Given the description of an element on the screen output the (x, y) to click on. 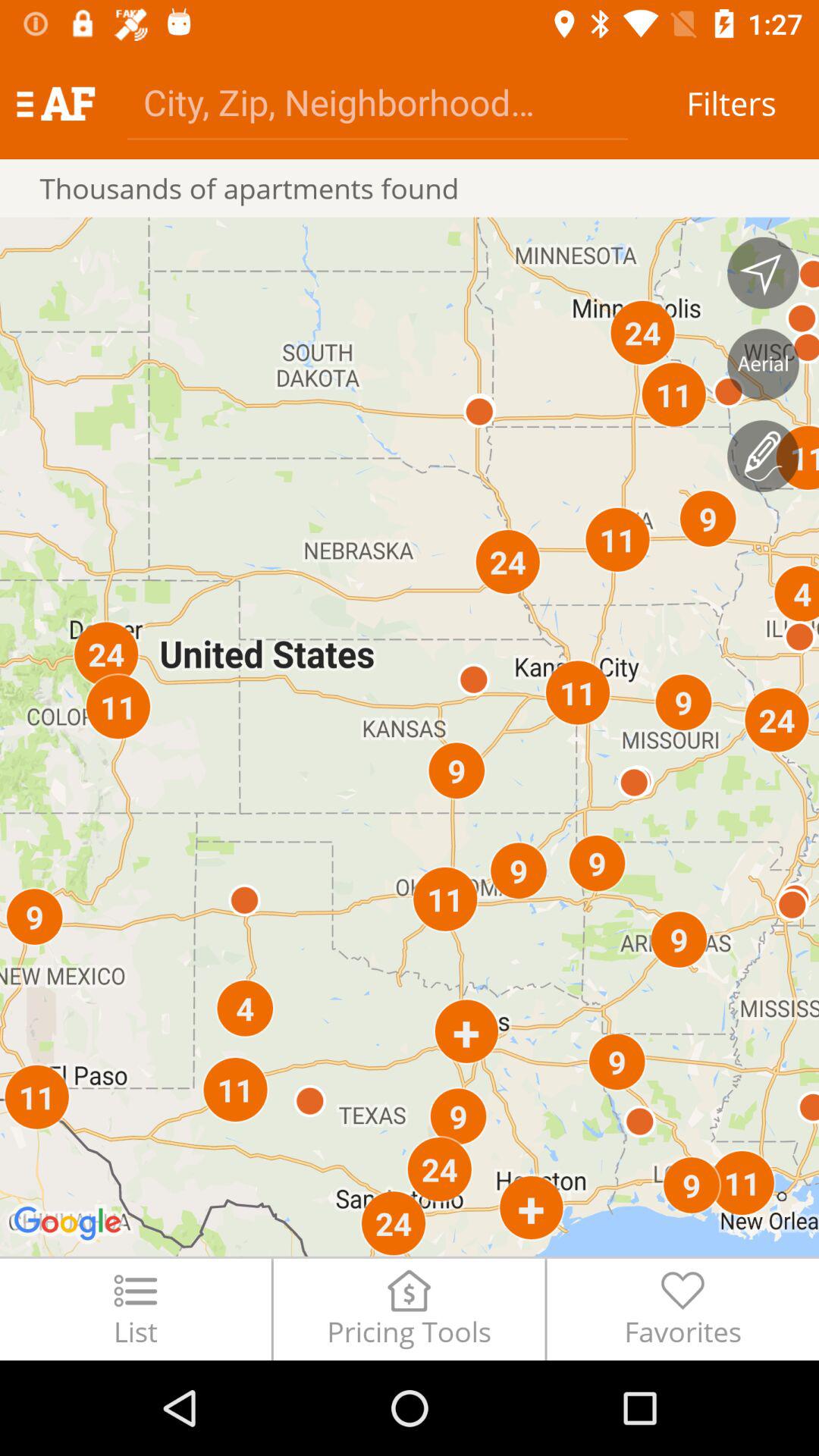
turn on the list icon (135, 1309)
